Given the description of an element on the screen output the (x, y) to click on. 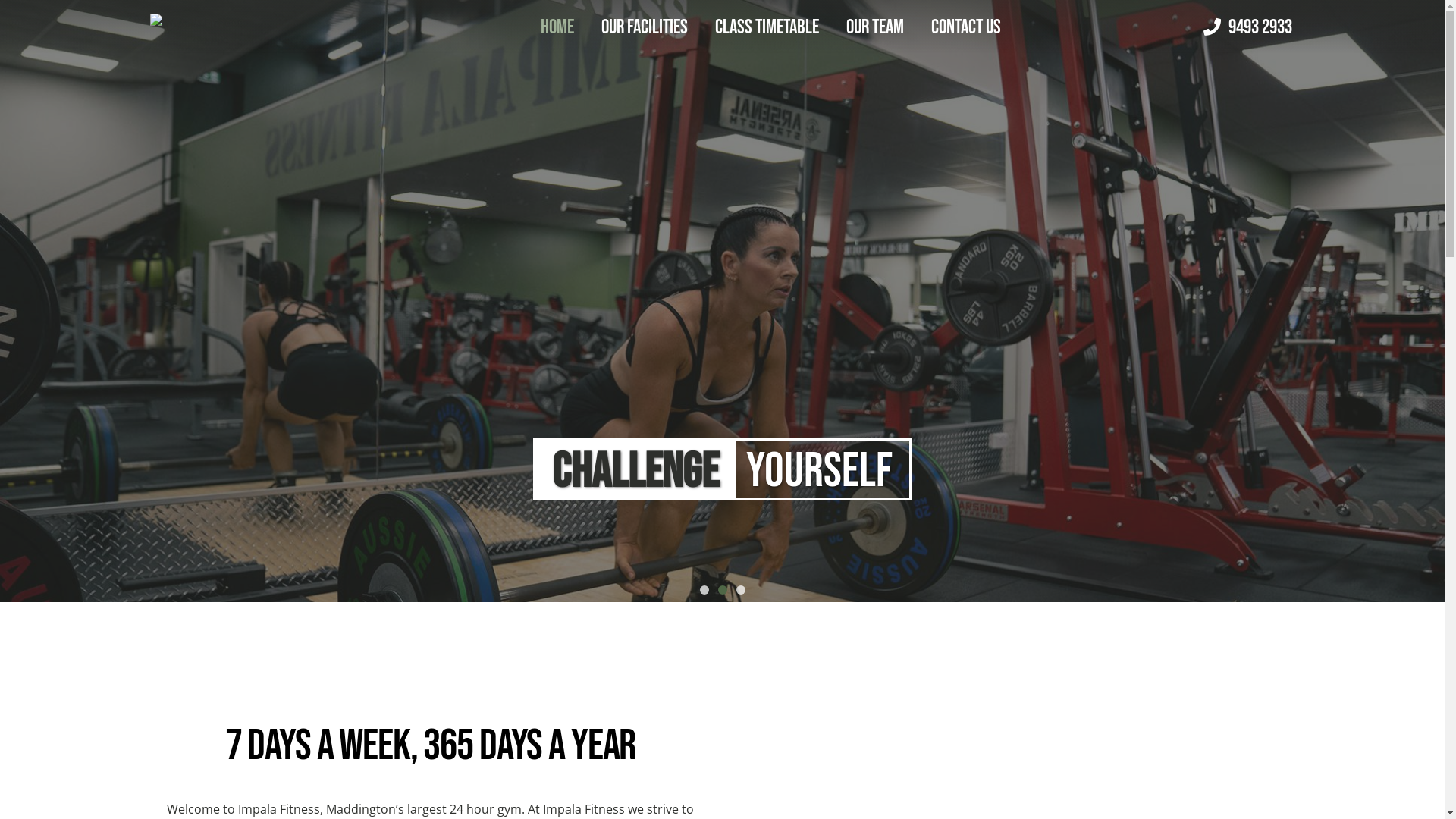
OUR TEAM Element type: text (875, 26)
2 Element type: text (721, 589)
3 Element type: text (739, 589)
CONTACT US Element type: text (966, 26)
CLASS TIMETABLE Element type: text (766, 26)
1 Element type: text (703, 589)
9493 2933 Element type: text (1260, 27)
OUR FACILITIES Element type: text (644, 26)
HOME Element type: text (557, 26)
gym-weights-workout-1 Element type: hover (722, 301)
